Given the description of an element on the screen output the (x, y) to click on. 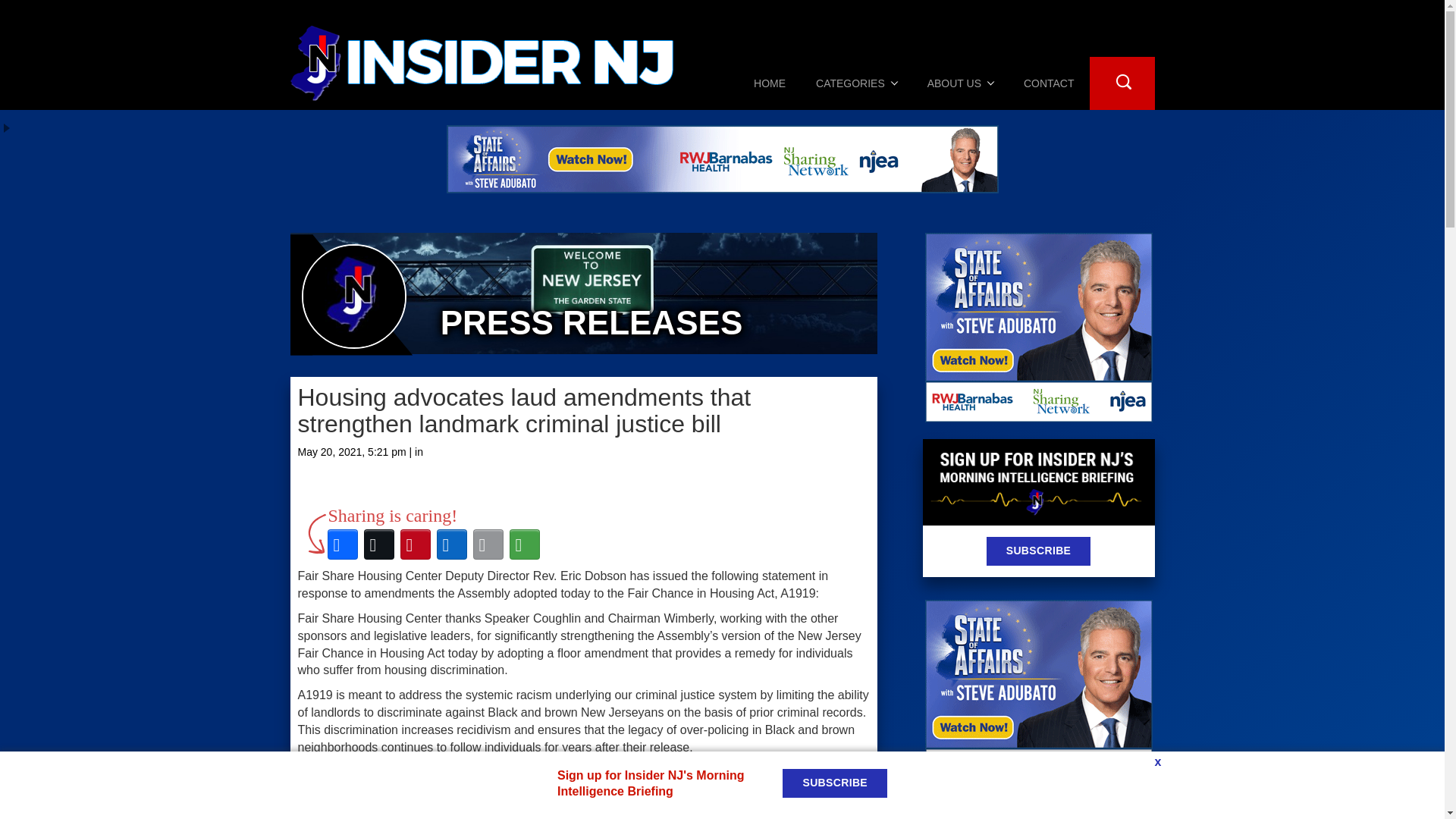
Facebook (342, 544)
CONTACT (1049, 82)
ABOUT US (960, 82)
SUBSCRIBE (1038, 551)
HOME (769, 82)
About Us (960, 82)
Latest News (1096, 812)
CATEGORIES (856, 82)
Contact (1049, 82)
Email This (488, 544)
Most Popular (979, 809)
Pinterest (415, 544)
LinkedIn (451, 544)
Categories (856, 82)
Home (769, 82)
